Given the description of an element on the screen output the (x, y) to click on. 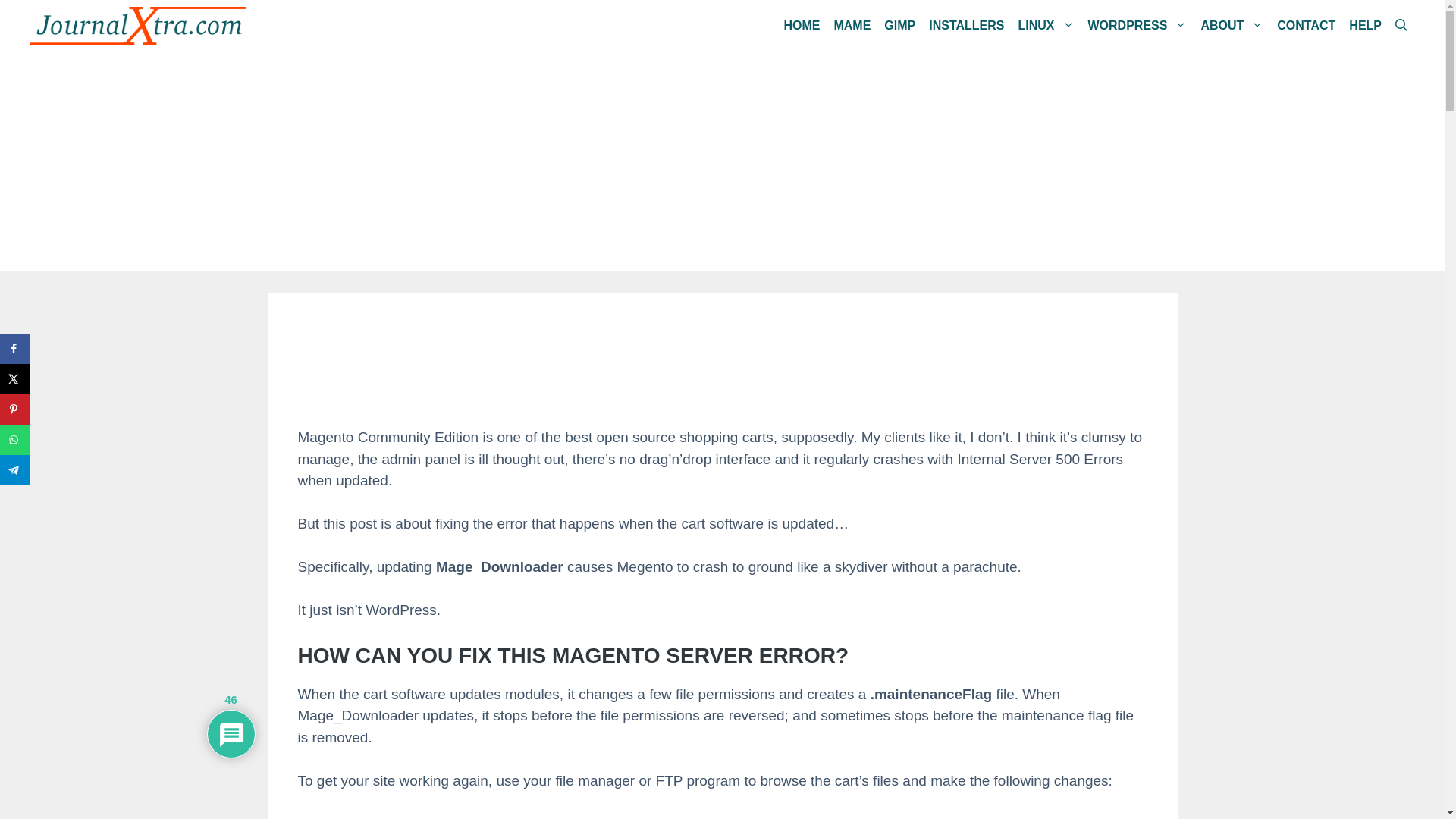
LINUX (1046, 24)
MAME (852, 24)
ABOUT (1231, 24)
CONTACT (1305, 24)
HELP (1365, 24)
WORDPRESS (1137, 24)
INSTALLERS (965, 24)
GIMP (899, 24)
HOME (801, 24)
